Given the description of an element on the screen output the (x, y) to click on. 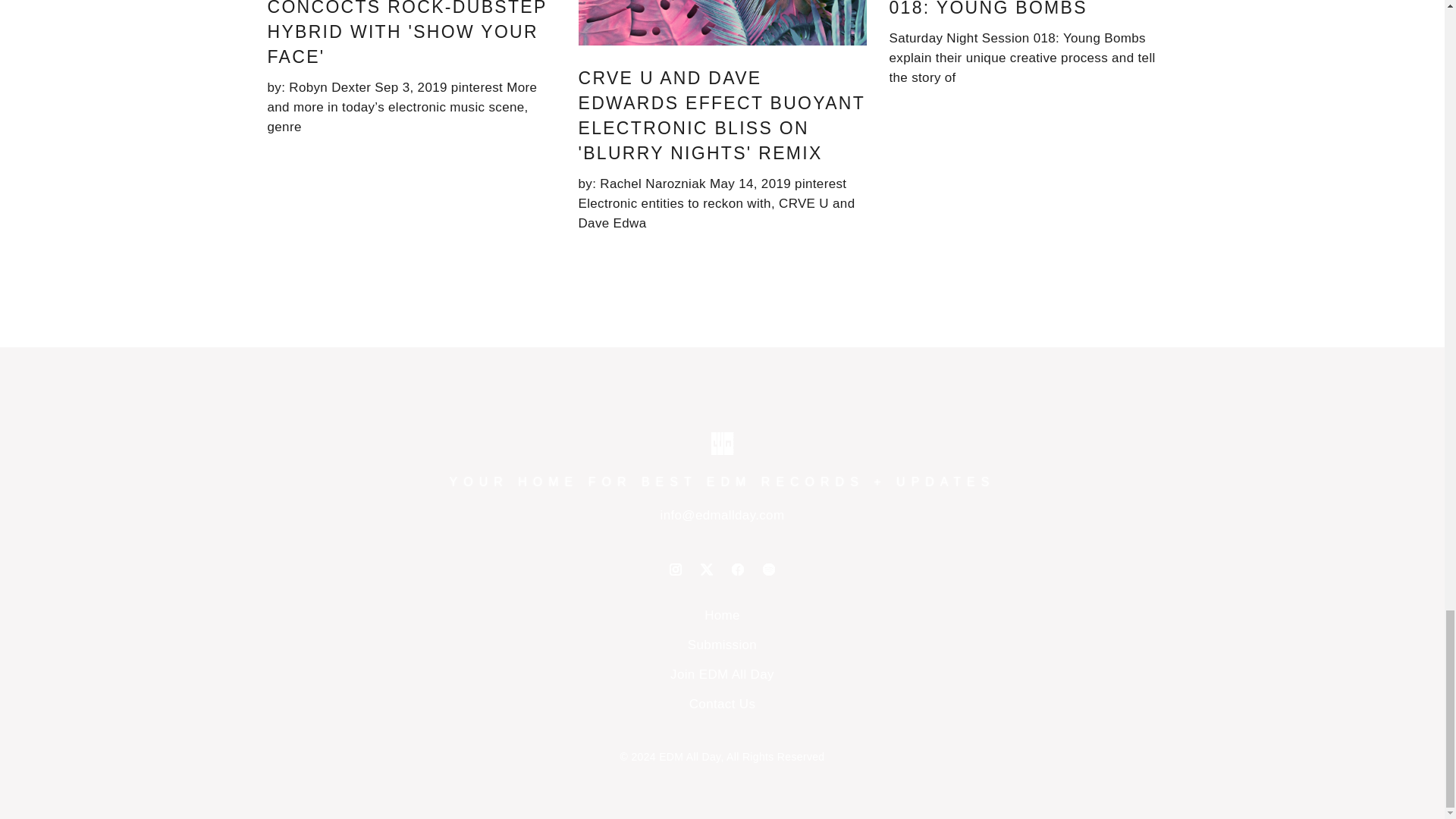
SATURDAY NIGHT SESSION 018: YOUNG BOMBS (1024, 8)
Submission (722, 644)
Home (721, 615)
